Given the description of an element on the screen output the (x, y) to click on. 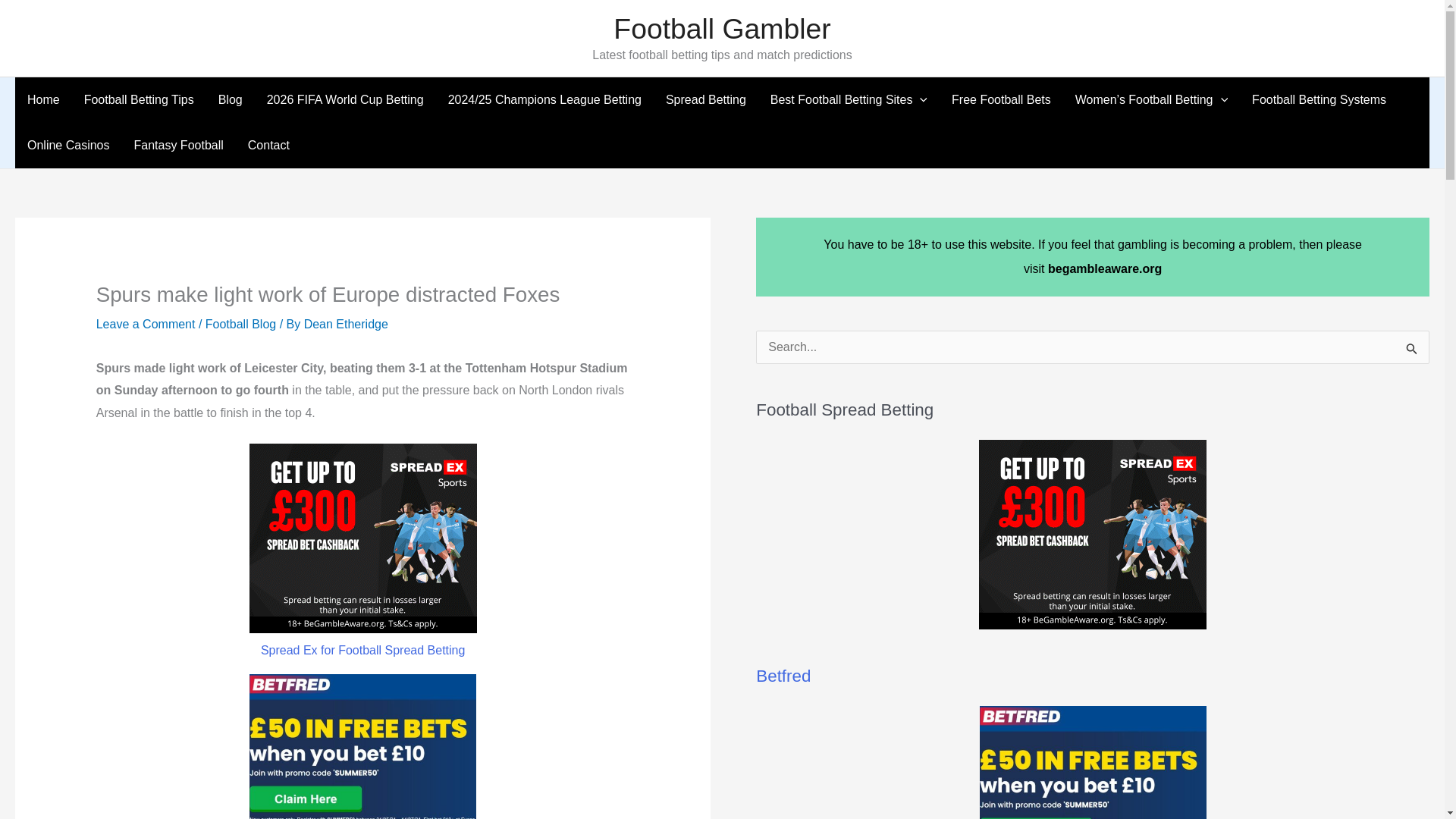
Football Betting Systems (1318, 99)
Football Betting Tips (138, 99)
Online Casinos (68, 145)
Football Gambler (720, 29)
Search (1411, 351)
Free Football Bets (1000, 99)
Contact (268, 145)
2026 FIFA World Cup Betting (344, 99)
Spread Betting (705, 99)
Fantasy Football (177, 145)
Best Football Betting Sites (848, 99)
Blog (230, 99)
Search (1411, 351)
Home (42, 99)
View all posts by Dean Etheridge (346, 323)
